Given the description of an element on the screen output the (x, y) to click on. 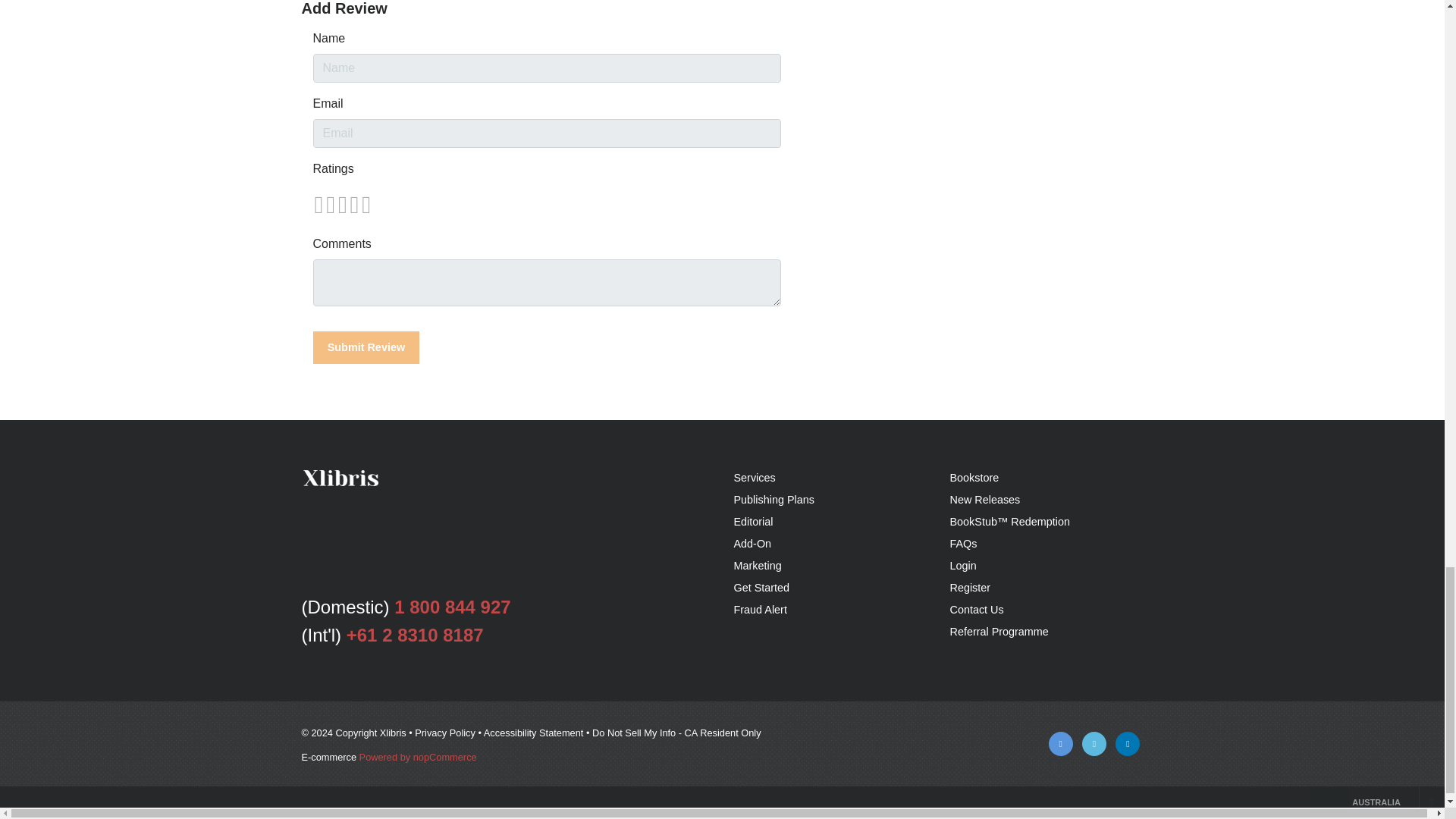
1 800 844 927 (452, 607)
Services (754, 477)
Editorial (753, 521)
Not Rated (342, 204)
Add-On (752, 543)
Bookstore (973, 477)
New Releases (984, 499)
Publishing Plans (773, 499)
Submit Review (366, 347)
Marketing (757, 565)
Submit Review (366, 347)
Fraud Alert (760, 609)
Get Started (761, 587)
